Given the description of an element on the screen output the (x, y) to click on. 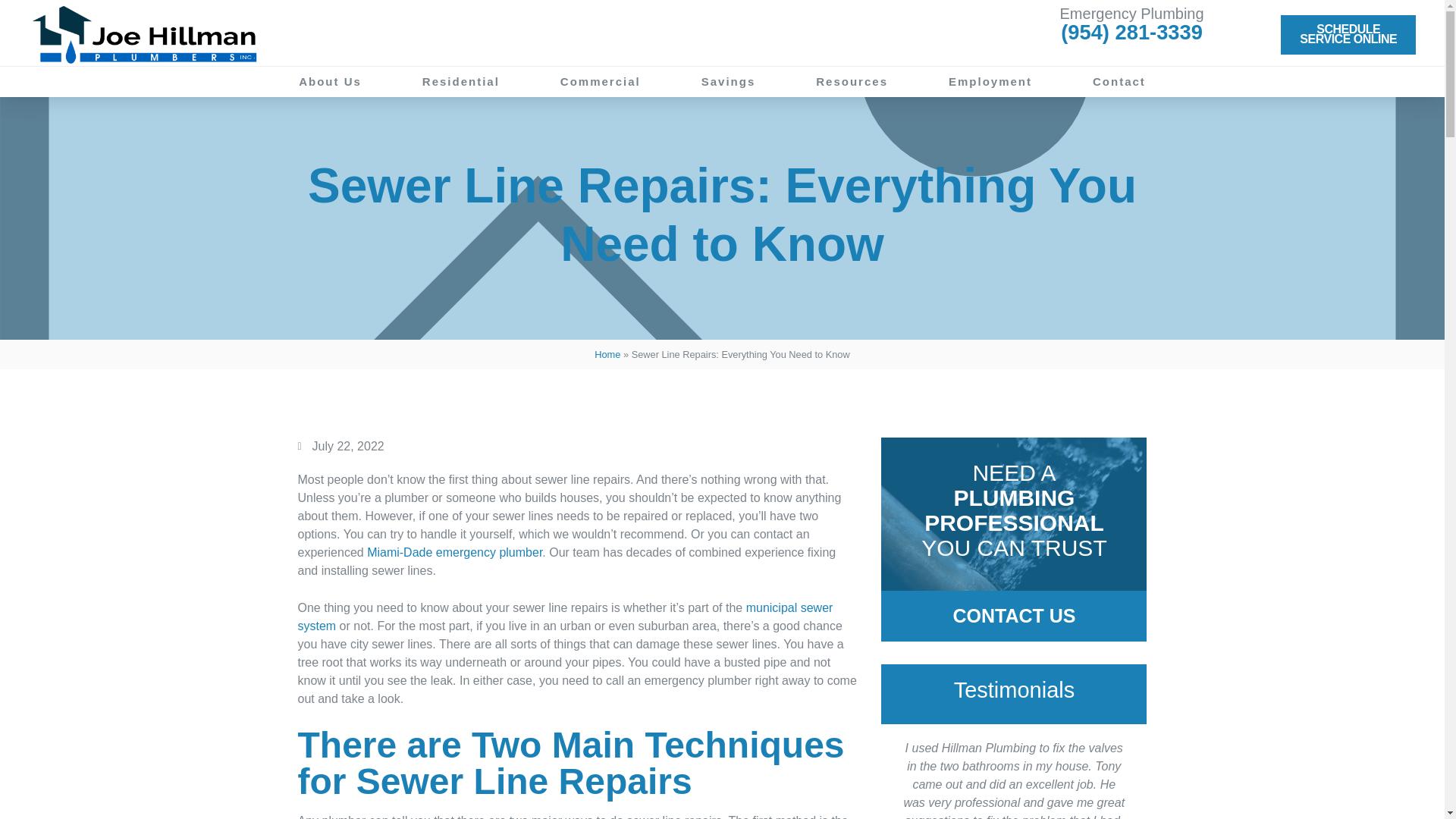
Resources (852, 81)
Contact (1119, 81)
About Us (1348, 34)
Commercial (329, 81)
Savings (600, 81)
Employment (728, 81)
Residential (990, 81)
